Given the description of an element on the screen output the (x, y) to click on. 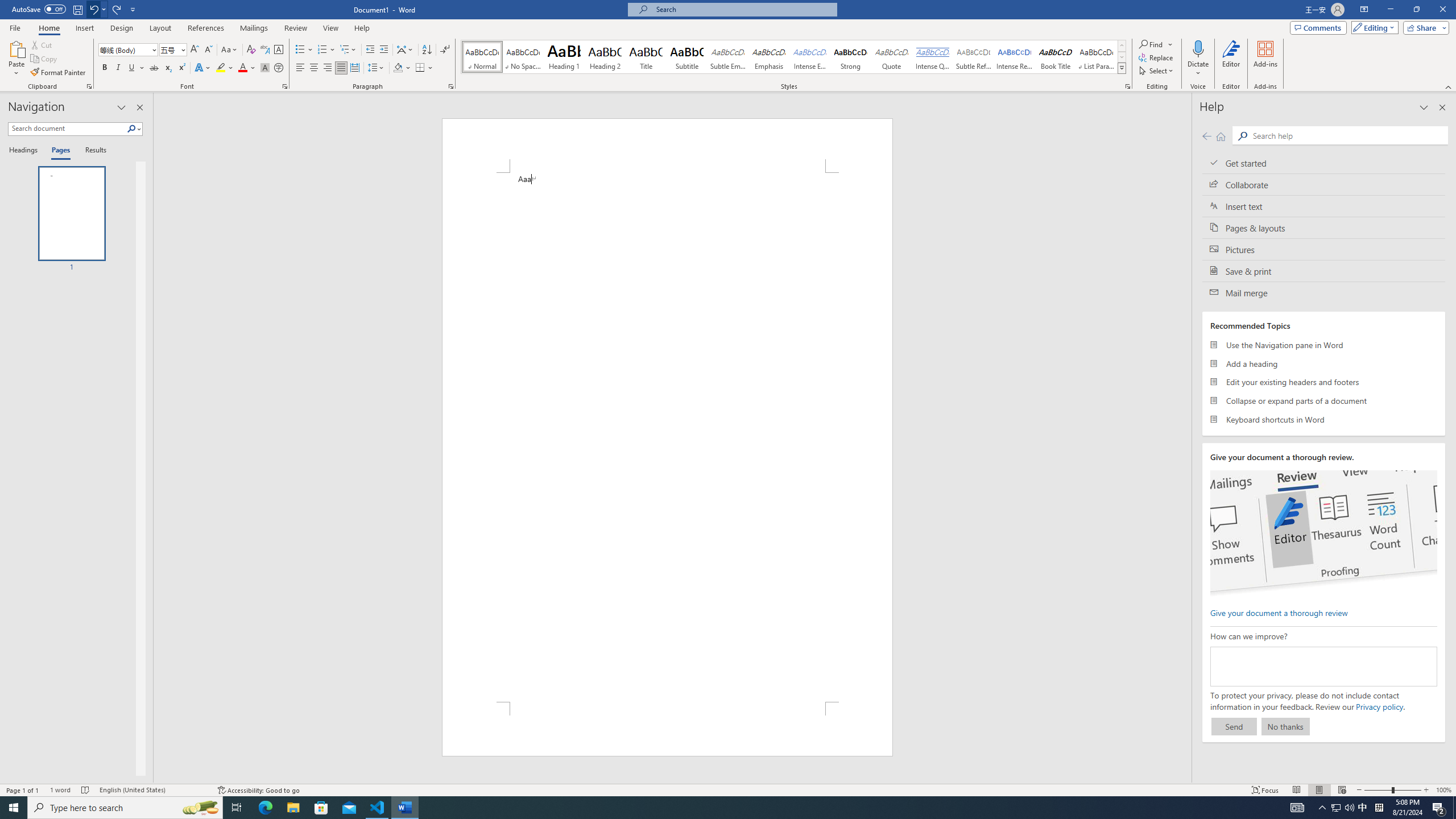
Select (1157, 69)
Give your document a thorough review (1278, 611)
Format Painter (58, 72)
editor ui screenshot (1323, 533)
Edit your existing headers and footers (1323, 381)
